Given the description of an element on the screen output the (x, y) to click on. 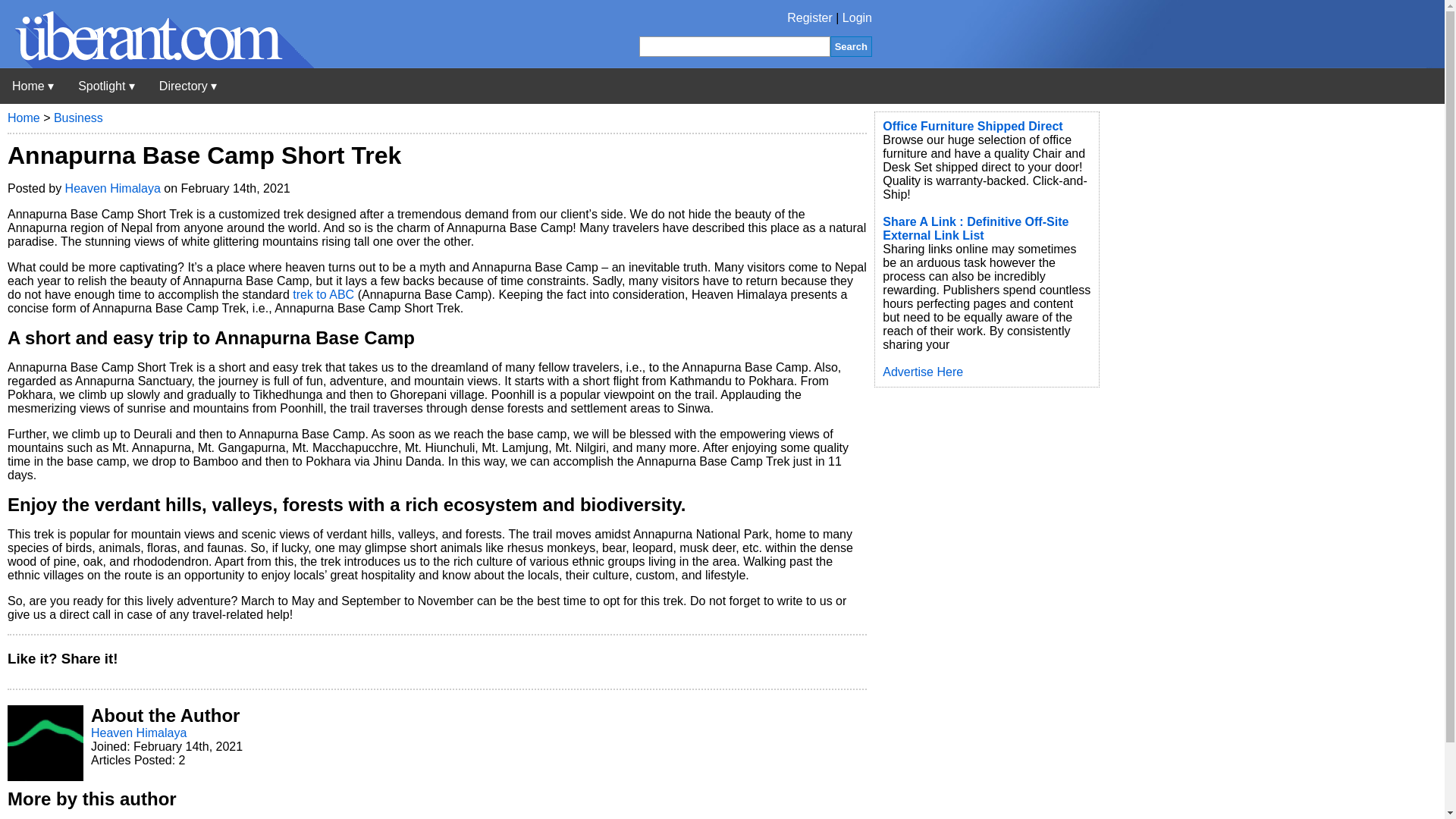
Login (857, 17)
Search (850, 46)
Uberant (32, 85)
Uberant (157, 63)
Search (850, 46)
Register (809, 17)
